Given the description of an element on the screen output the (x, y) to click on. 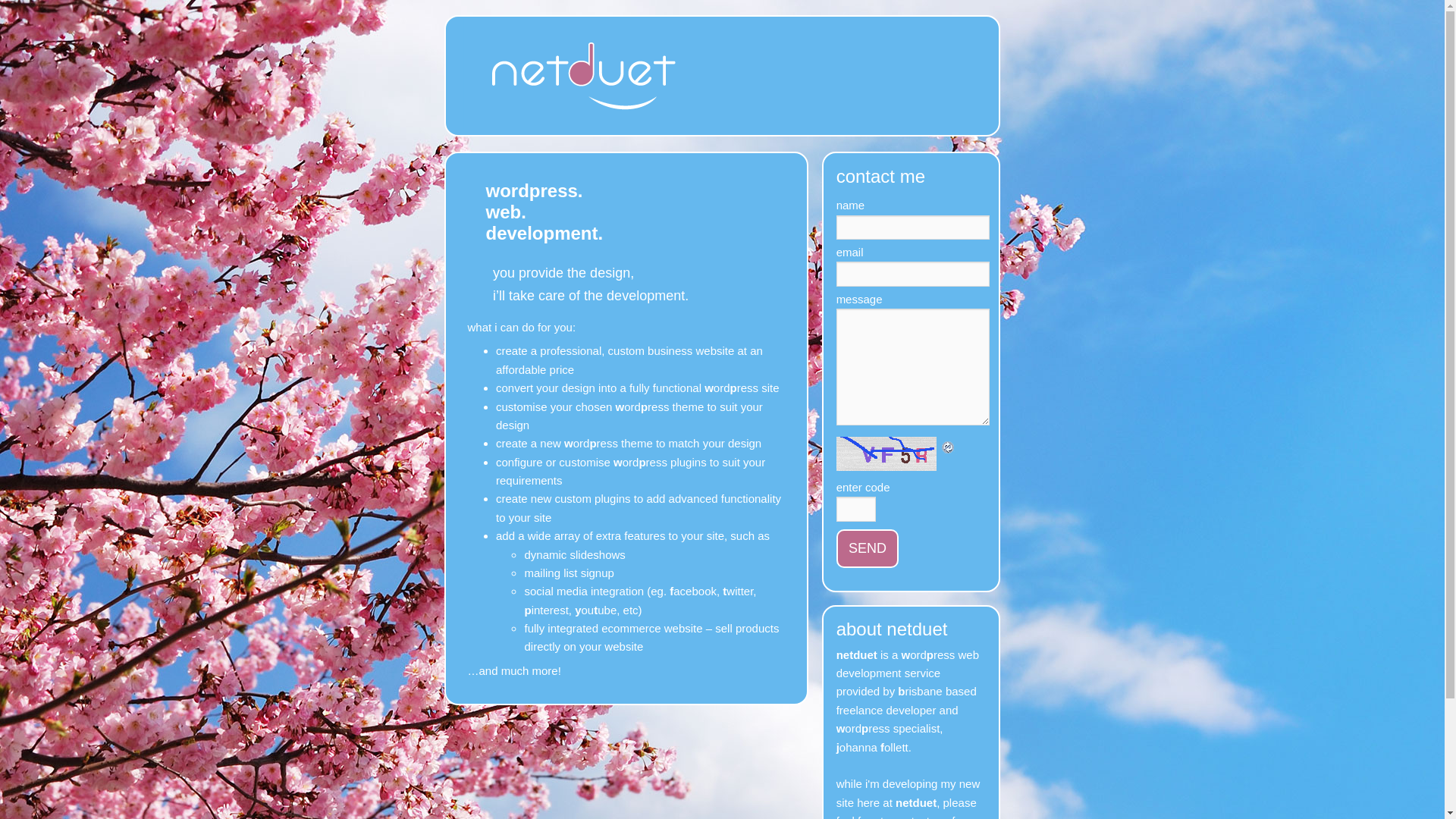
netduet Element type: hover (583, 125)
Send Element type: text (867, 548)
Refresh Image Element type: hover (948, 445)
CAPTCHA Image Element type: hover (888, 453)
